Given the description of an element on the screen output the (x, y) to click on. 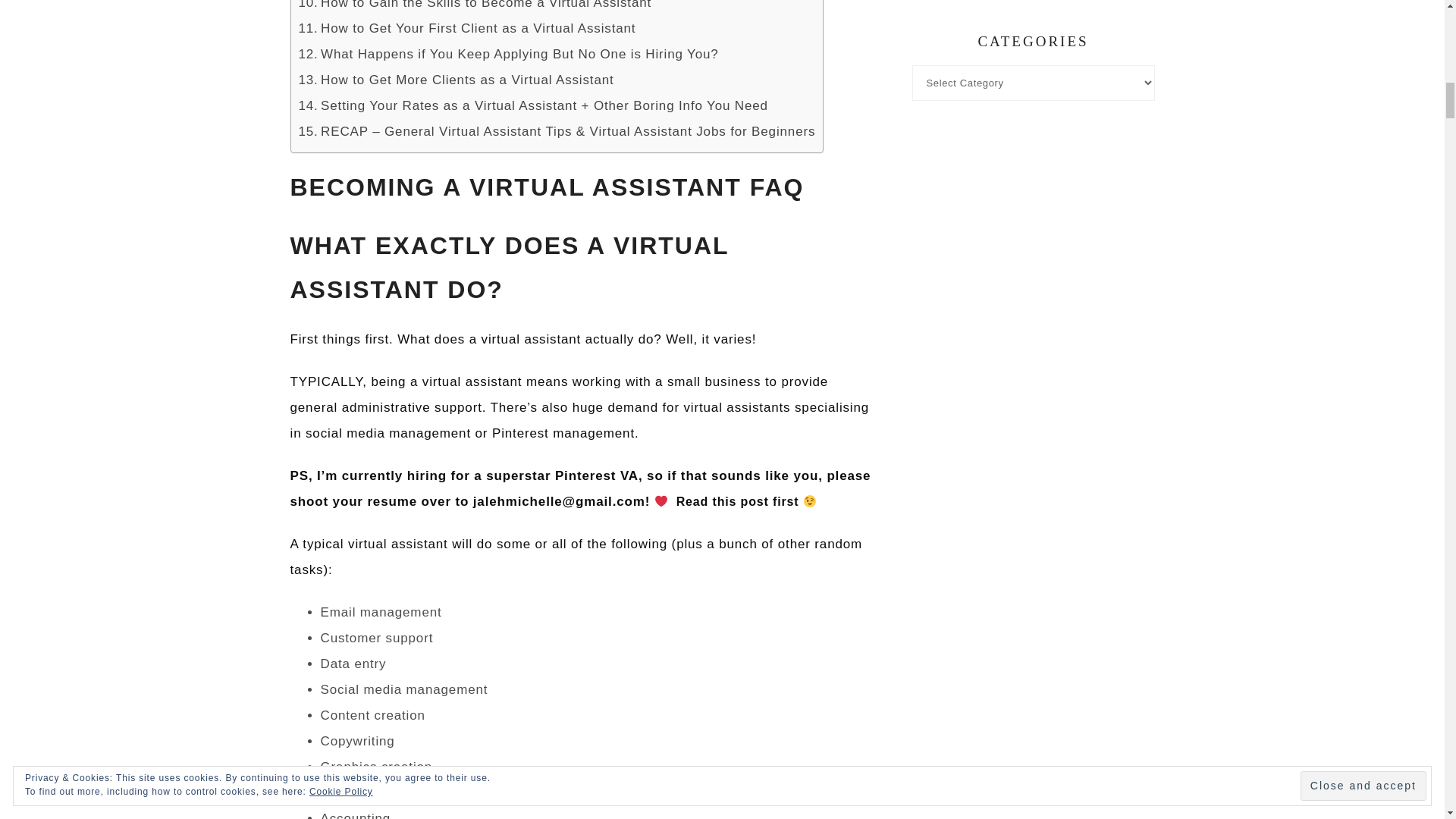
What Happens if You Keep Applying But No One is Hiring You? (508, 53)
How to Gain the Skills to Become a Virtual Assistant (475, 4)
How to Get Your First Client as a Virtual Assistant (467, 28)
How to Get More Clients as a Virtual Assistant (456, 79)
